Given the description of an element on the screen output the (x, y) to click on. 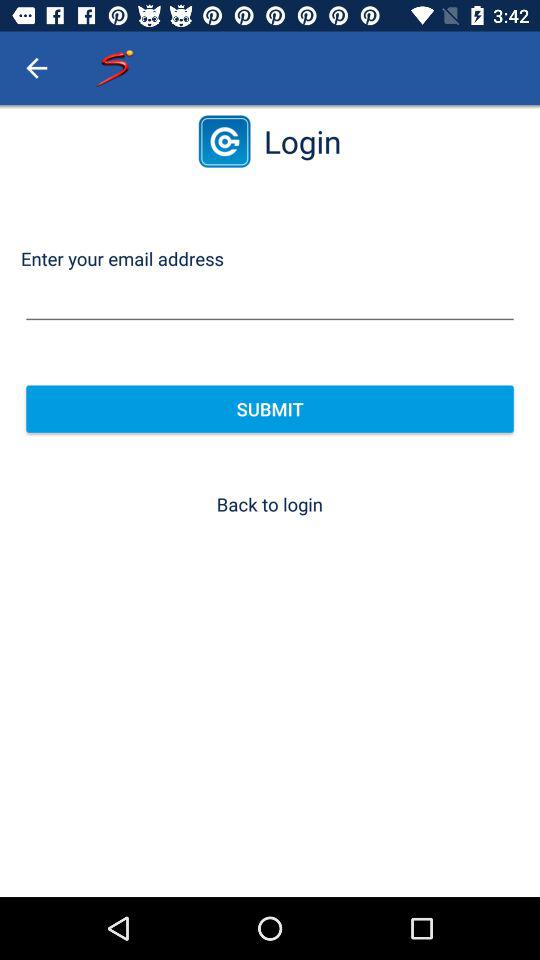
scroll until the submit item (270, 408)
